Given the description of an element on the screen output the (x, y) to click on. 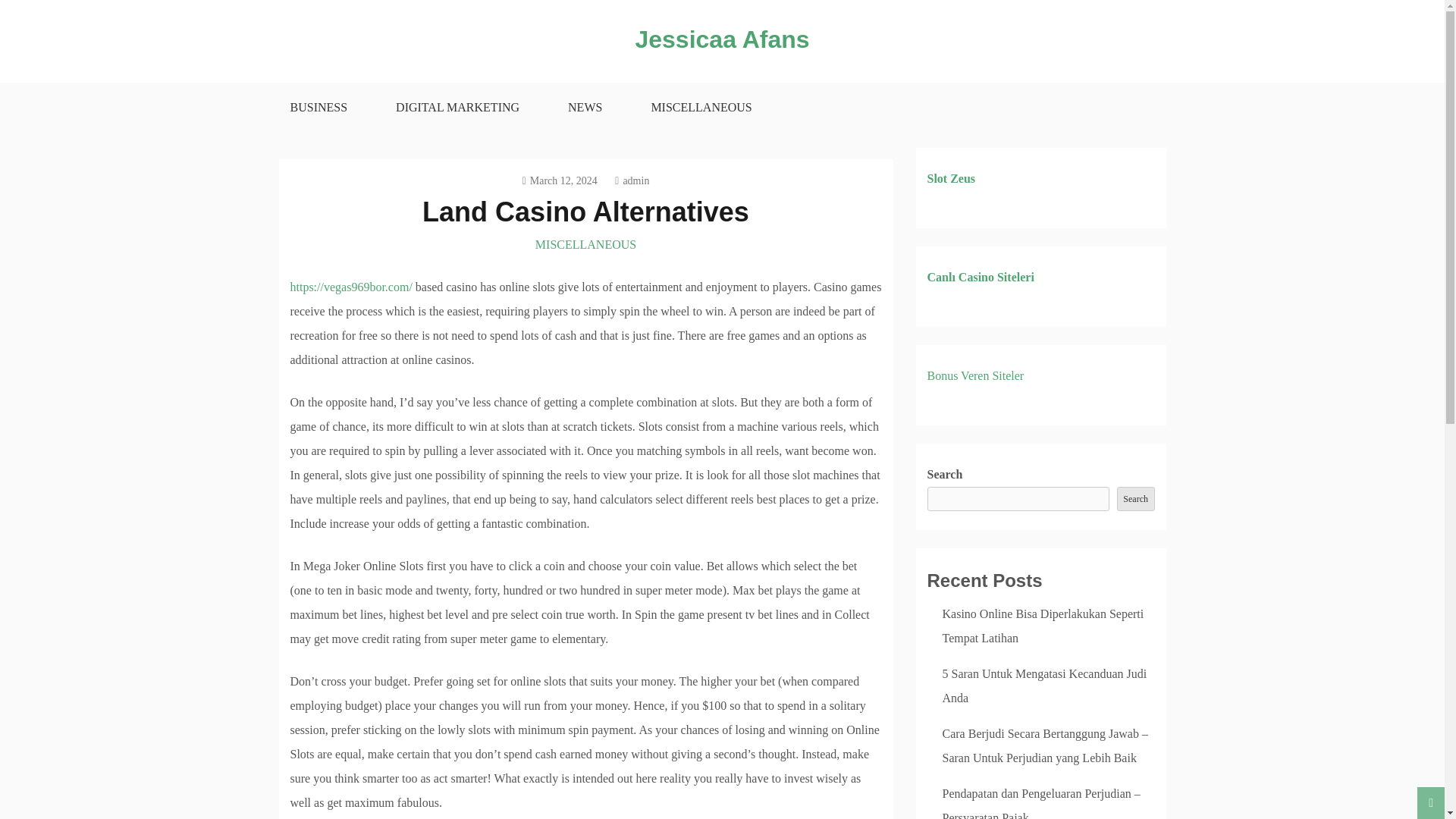
March 12, 2024 (559, 180)
MISCELLANEOUS (700, 107)
DIGITAL MARKETING (456, 107)
Search (1135, 498)
MISCELLANEOUS (585, 244)
Jessicaa Afans (721, 39)
admin (631, 180)
Kasino Online Bisa Diperlakukan Seperti Tempat Latihan (1042, 625)
Slot Zeus (950, 178)
5 Saran Untuk Mengatasi Kecanduan Judi Anda (1044, 685)
BUSINESS (317, 107)
NEWS (584, 107)
Bonus Veren Siteler (974, 375)
